Given the description of an element on the screen output the (x, y) to click on. 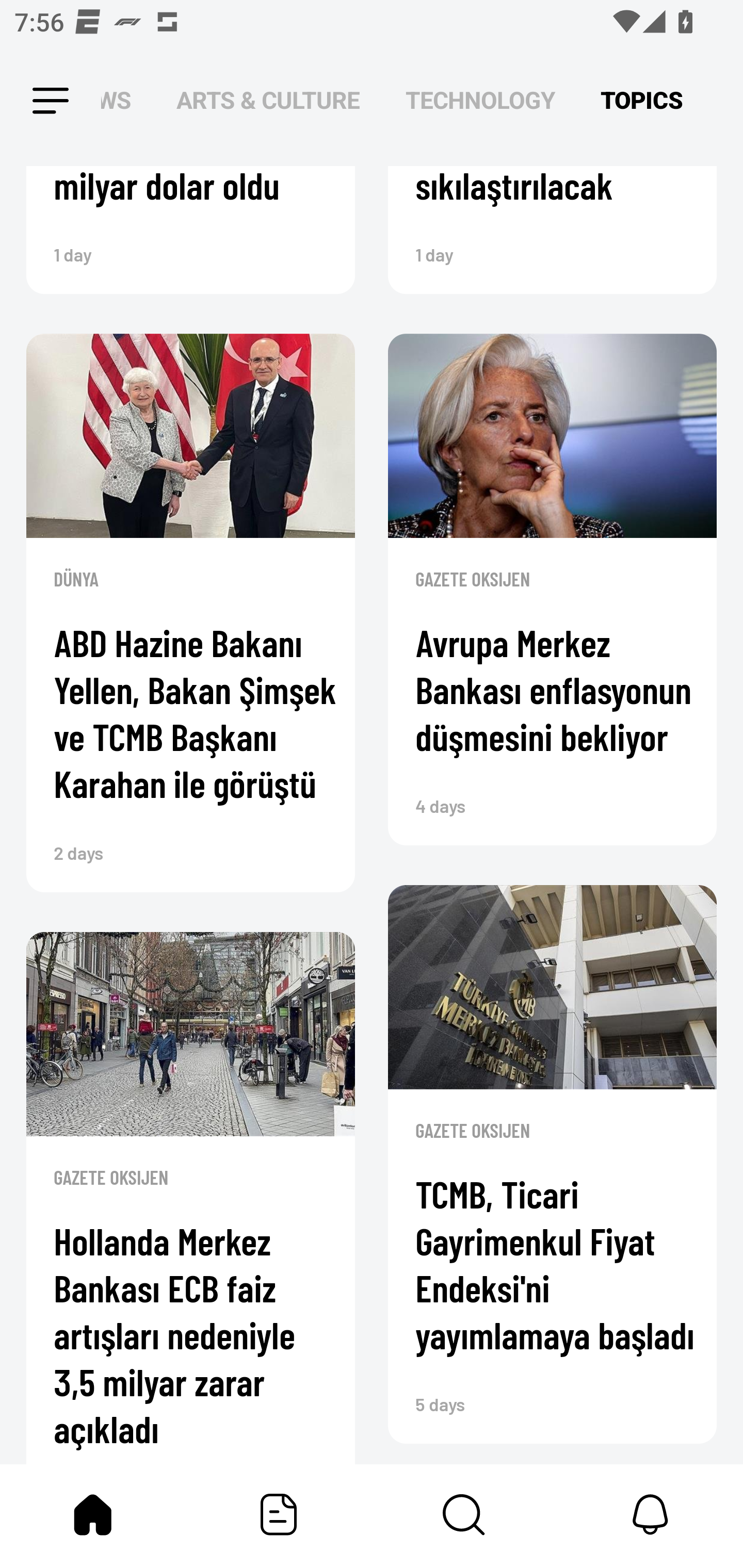
NEWS (121, 100)
ARTS & CULTURE (268, 100)
TECHNOLOGY (480, 100)
Featured (278, 1514)
Content Store (464, 1514)
Notifications (650, 1514)
